Given the description of an element on the screen output the (x, y) to click on. 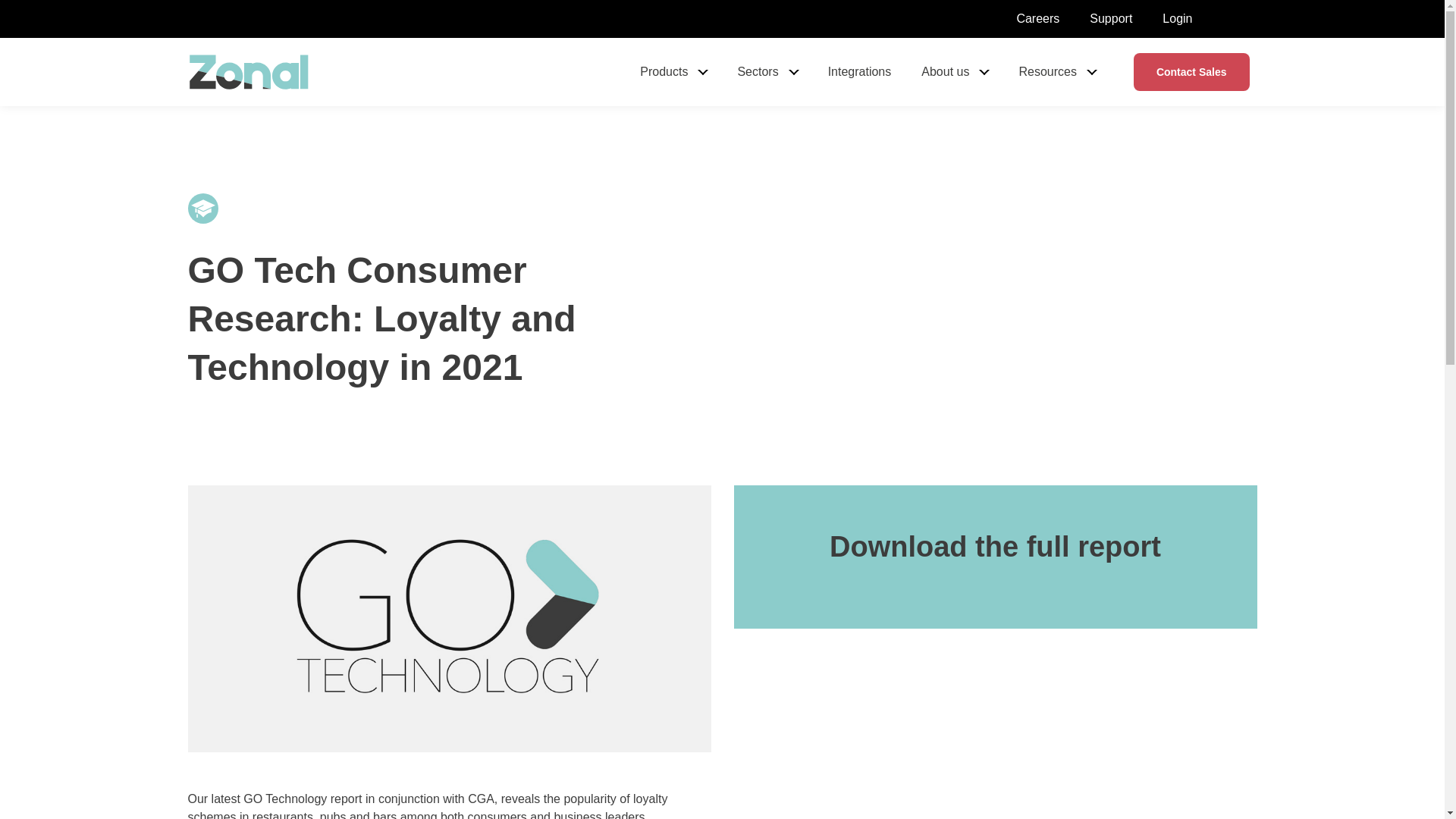
Careers (1037, 18)
Support (1110, 18)
Login (1176, 18)
